Given the description of an element on the screen output the (x, y) to click on. 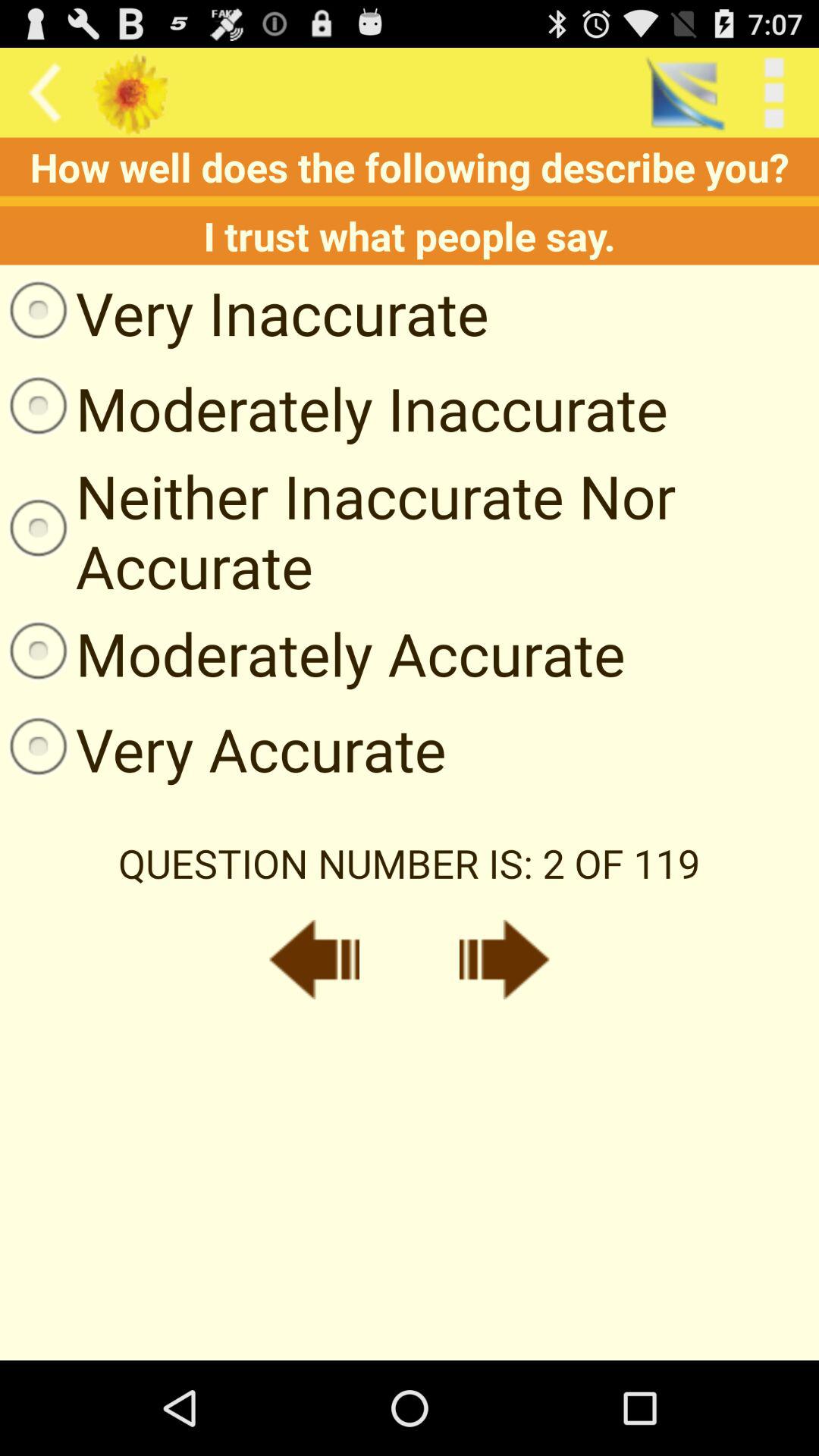
flip to moderately accurate (312, 653)
